Given the description of an element on the screen output the (x, y) to click on. 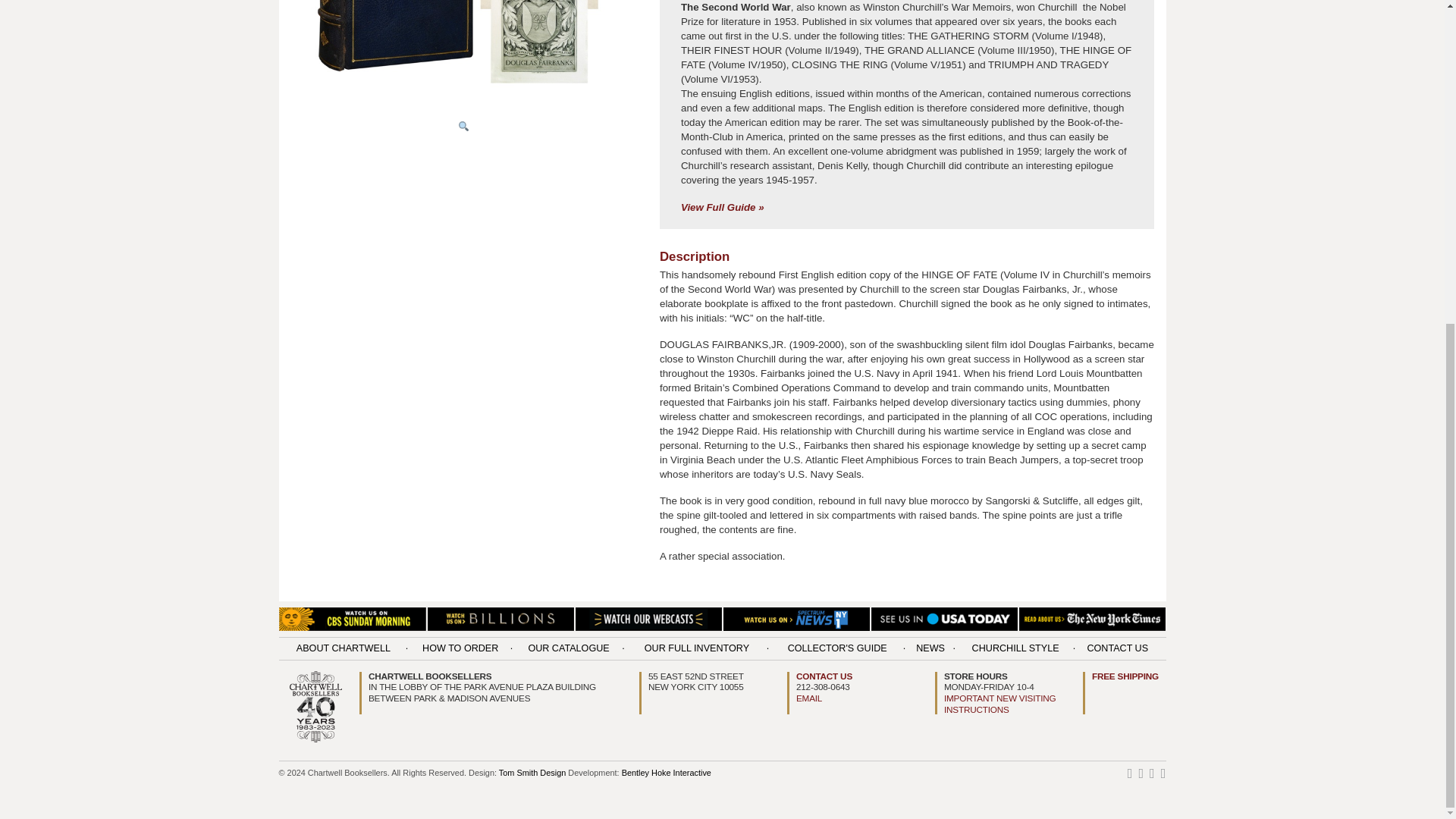
THE HINGE OF FATE (463, 51)
